Given the description of an element on the screen output the (x, y) to click on. 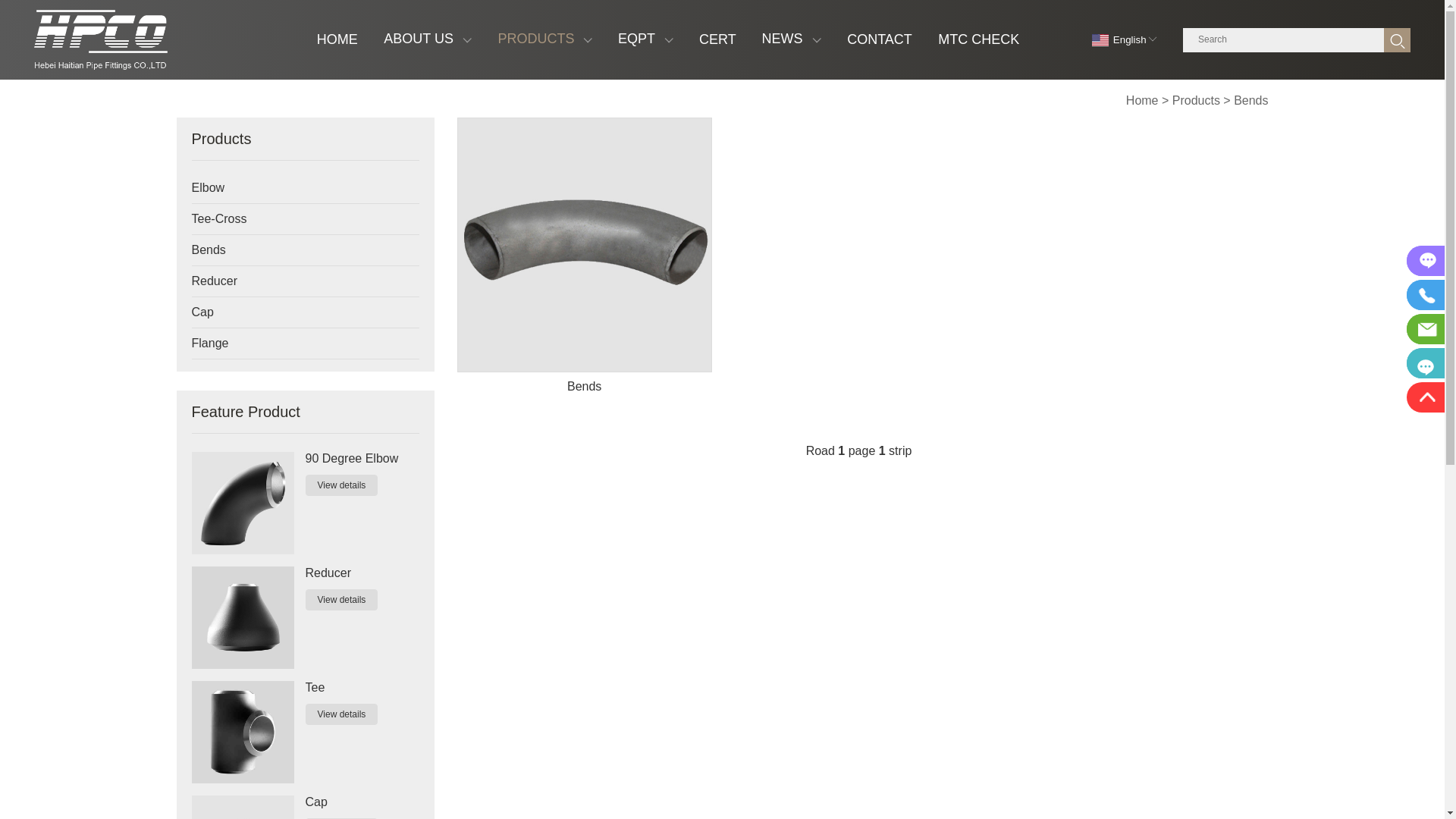
CERT Element type: text (717, 39)
Reducer Element type: text (361, 573)
Reducer Element type: text (290, 281)
Bends Element type: text (1250, 100)
Tee Element type: text (361, 687)
NEWS Element type: text (791, 39)
English Element type: text (1122, 39)
Elbow Element type: text (290, 187)
View details Element type: text (340, 599)
ABOUT US Element type: text (427, 39)
EQPT Element type: text (645, 39)
Products Element type: text (1196, 100)
View details Element type: text (340, 484)
Flange Element type: text (290, 343)
Tee-Cross Element type: text (290, 218)
MTC CHECK Element type: text (978, 39)
Home Element type: text (1142, 100)
Cap Element type: text (361, 802)
Bends Element type: text (290, 250)
HOME Element type: text (337, 39)
CONTACT Element type: text (879, 39)
Bends Element type: text (583, 263)
View details Element type: text (340, 713)
PRODUCTS Element type: text (544, 39)
90 Degree Elbow Element type: text (361, 458)
Cap Element type: text (290, 312)
